Given the description of an element on the screen output the (x, y) to click on. 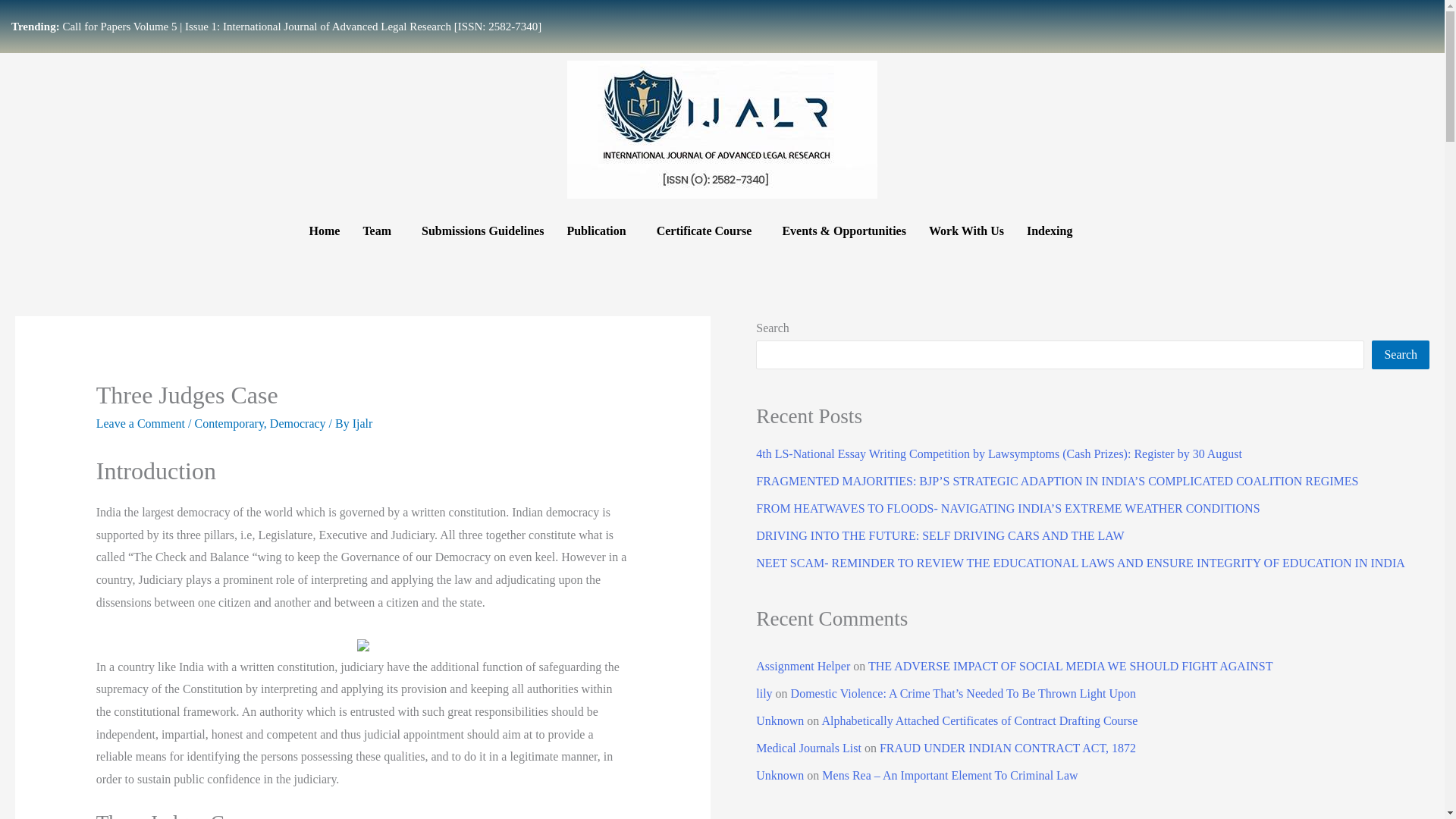
Team (380, 230)
Publication (599, 230)
View all posts by Ijalr (362, 422)
Submissions Guidelines (482, 230)
Home (323, 230)
Certificate Course (708, 230)
